Given the description of an element on the screen output the (x, y) to click on. 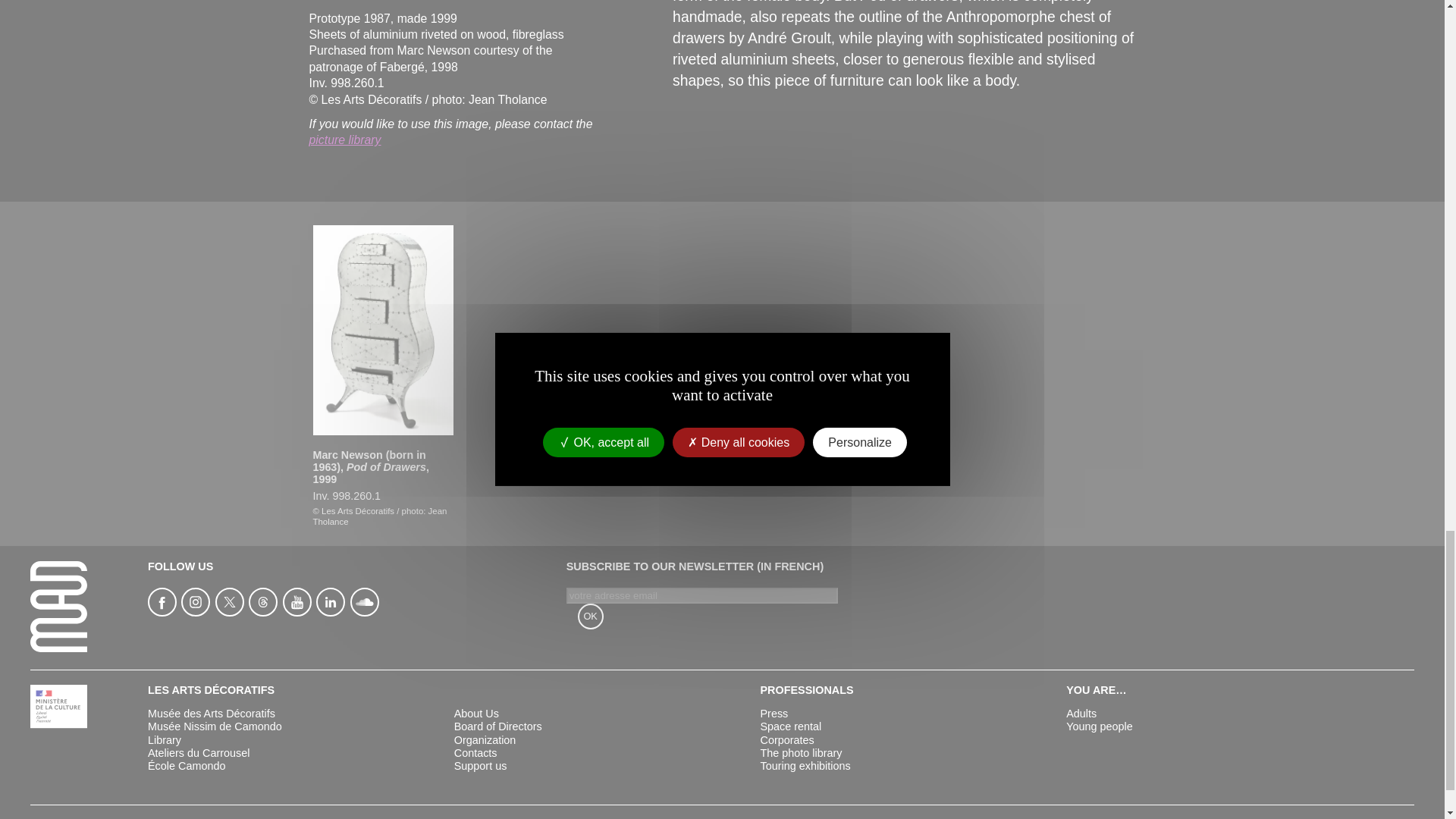
OK (591, 616)
